Given the description of an element on the screen output the (x, y) to click on. 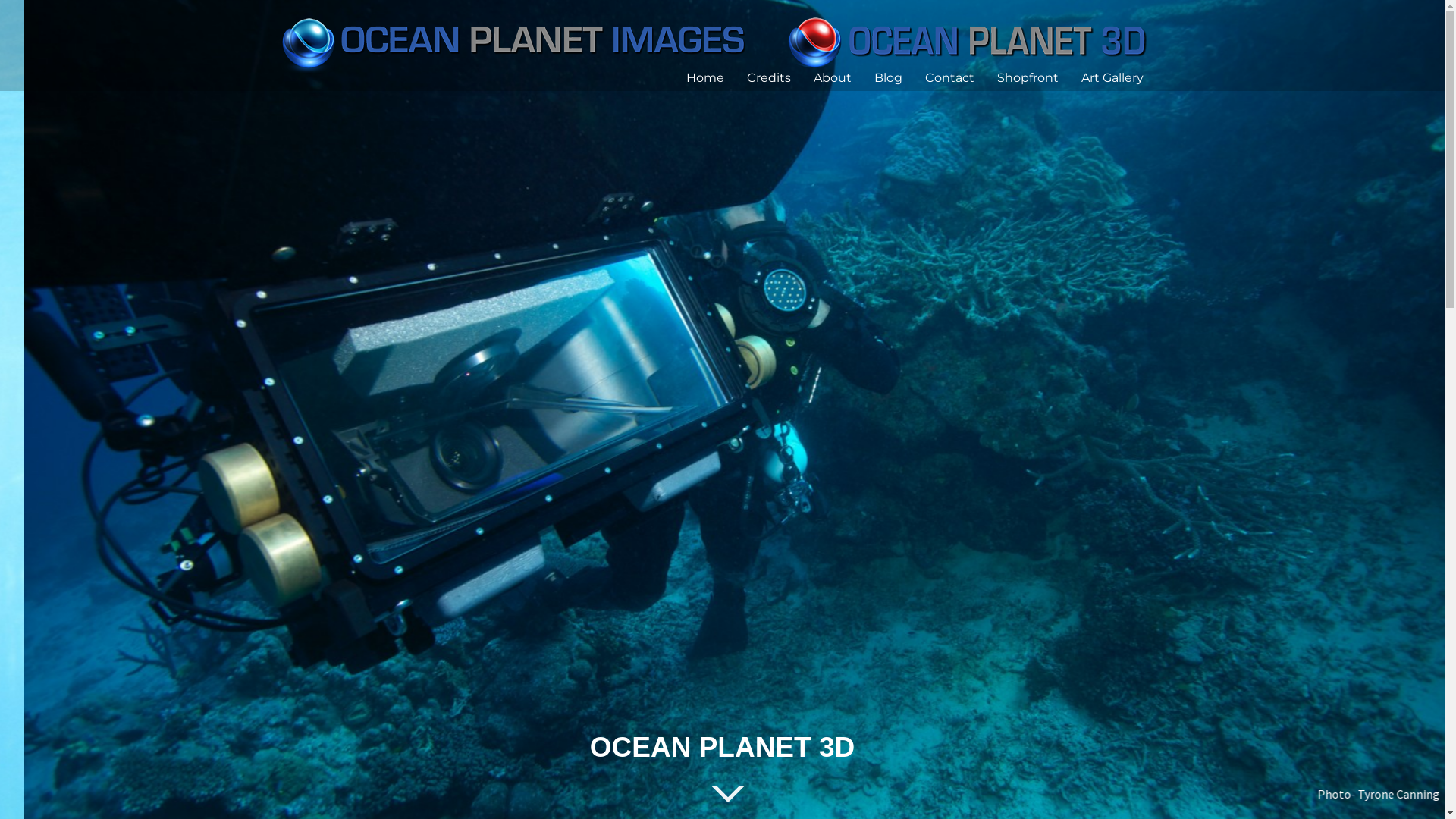
Home Element type: text (704, 77)
Art Gallery Element type: text (1112, 77)
About Element type: text (831, 77)
Contact Element type: text (949, 77)
Shopfront Element type: text (1026, 77)
Blog Element type: text (887, 77)
Cutting edge underwater production Element type: hover (719, 39)
Credits Element type: text (768, 77)
